Given the description of an element on the screen output the (x, y) to click on. 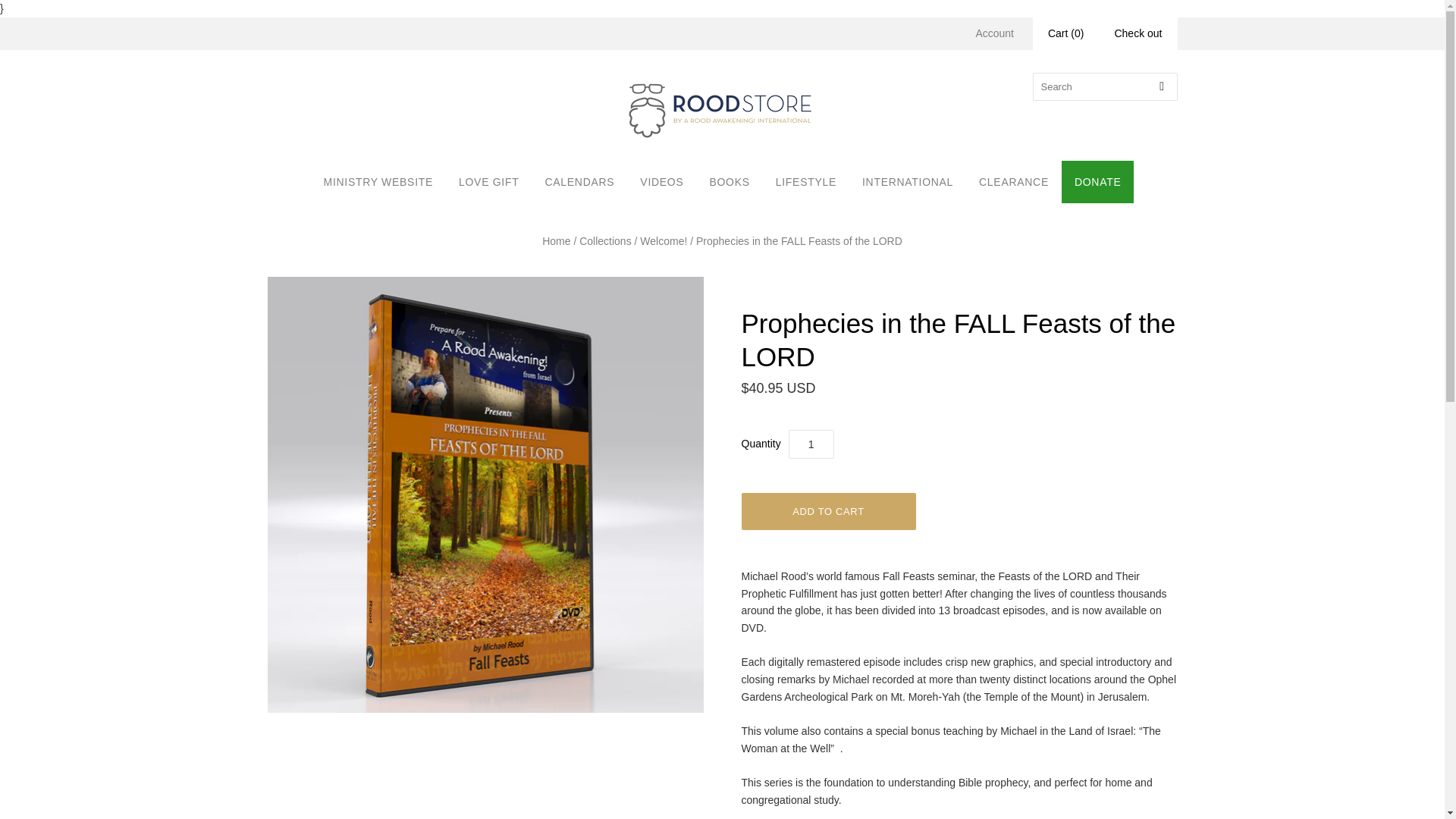
CALENDARS (579, 181)
LIFESTYLE (805, 181)
INTERNATIONAL (907, 181)
Collections (604, 241)
MINISTRY WEBSITE (378, 181)
DONATE (1097, 181)
Home (555, 241)
VIDEOS (661, 181)
Add to cart (828, 511)
CLEARANCE (1013, 181)
